Given the description of an element on the screen output the (x, y) to click on. 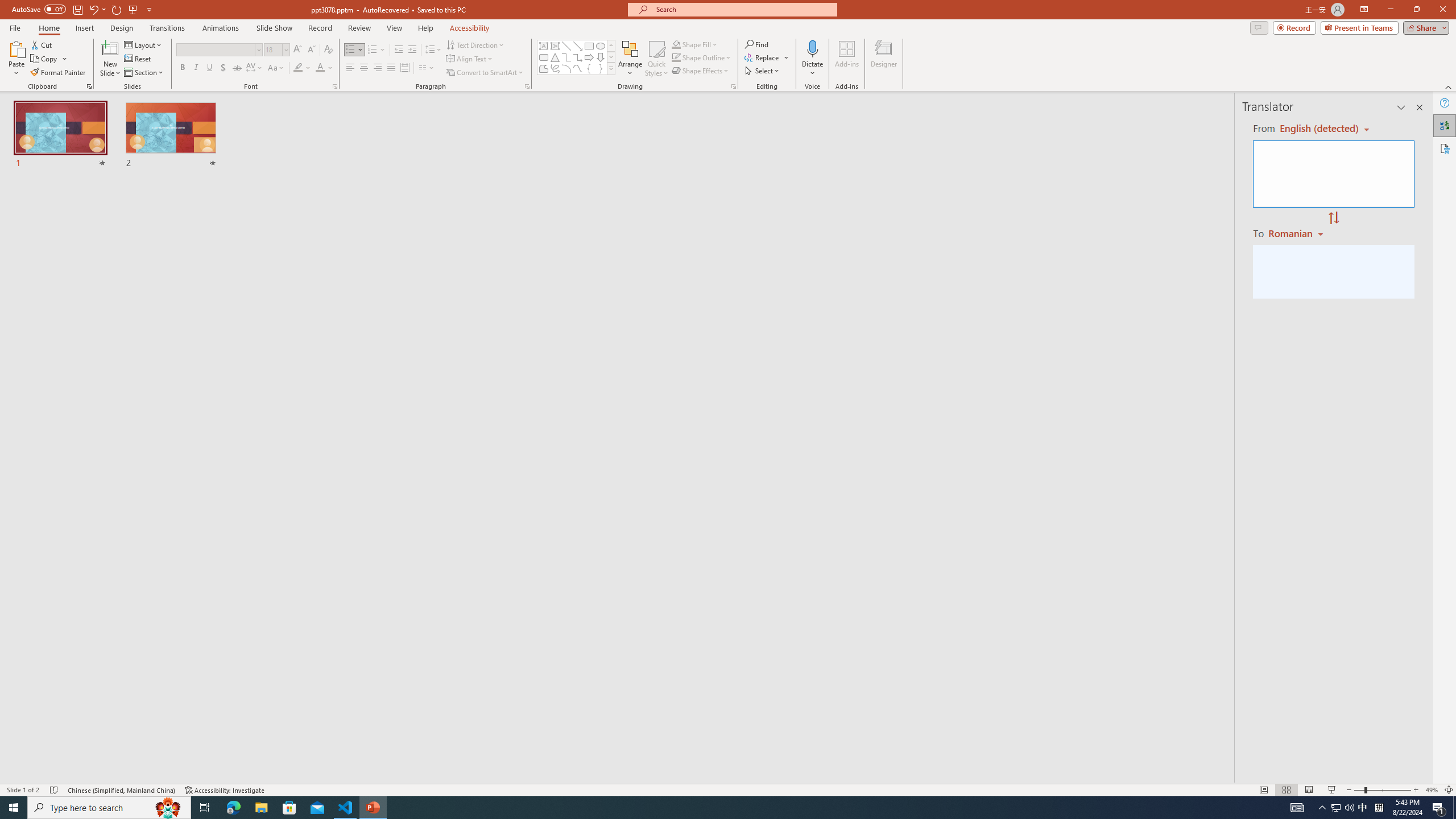
Page 1 content (719, 416)
